Given the description of an element on the screen output the (x, y) to click on. 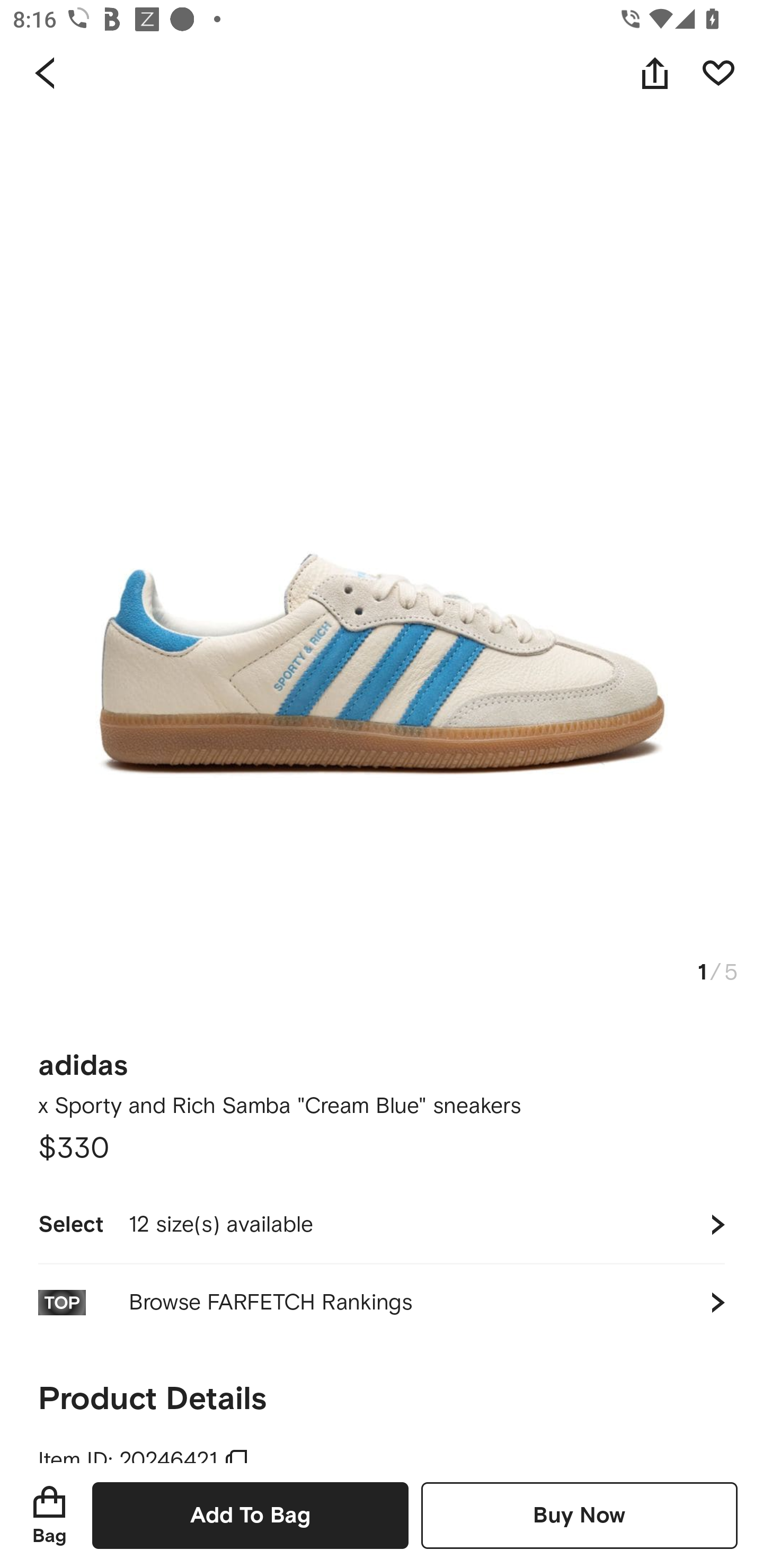
adidas (83, 1059)
Select 12 size(s) available (381, 1224)
Browse FARFETCH Rankings (381, 1301)
Bag (49, 1515)
Add To Bag (250, 1515)
Buy Now (579, 1515)
